Given the description of an element on the screen output the (x, y) to click on. 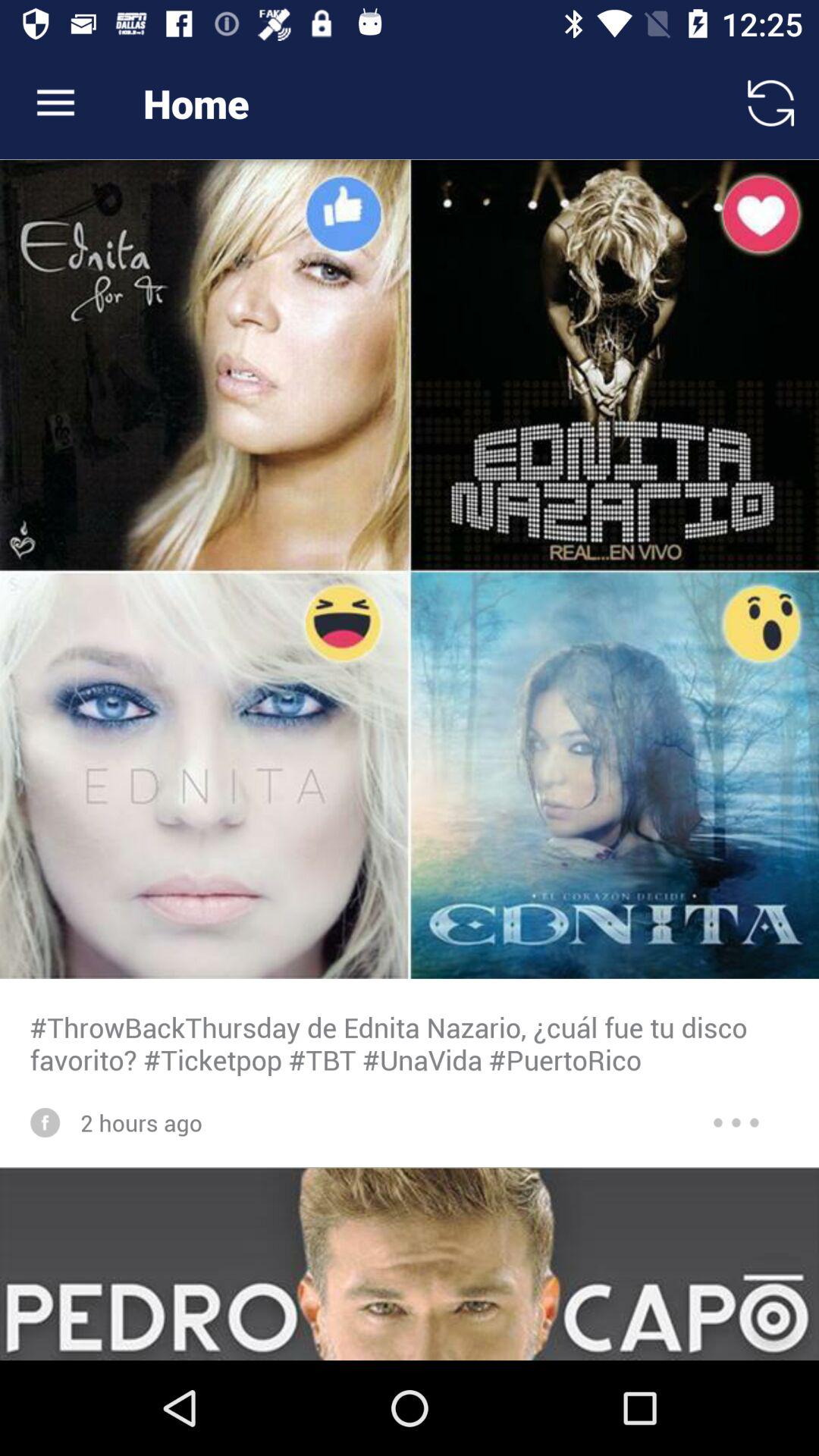
choose the item next to home (55, 103)
